Given the description of an element on the screen output the (x, y) to click on. 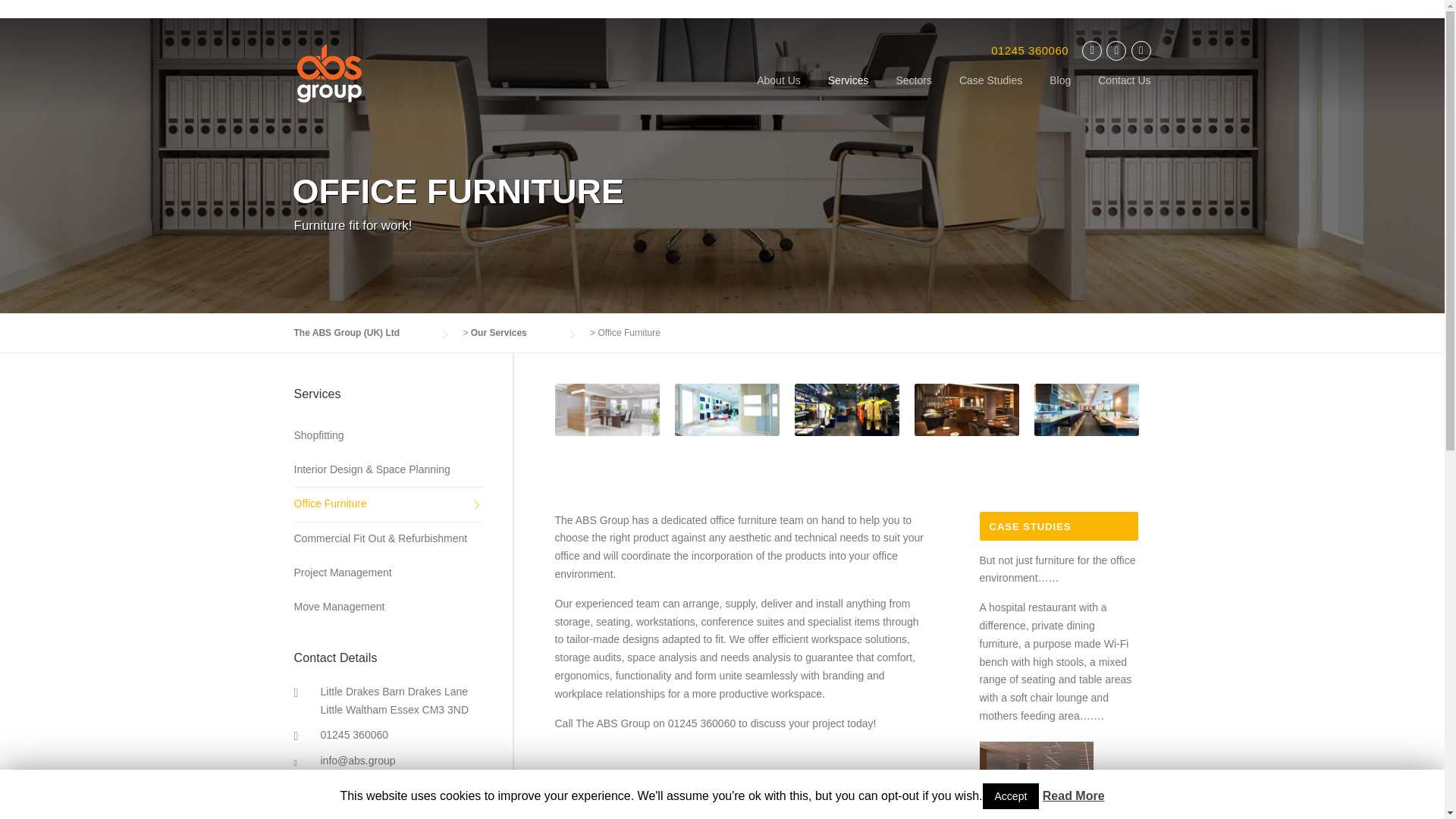
Sectors (913, 92)
Case Studies (989, 92)
Twitter (1091, 50)
Facebook (1115, 50)
Linkedin (1141, 50)
Contact Us (1117, 92)
About Us (777, 92)
Skip to content (34, 27)
Blog (1059, 92)
Services (847, 92)
